Given the description of an element on the screen output the (x, y) to click on. 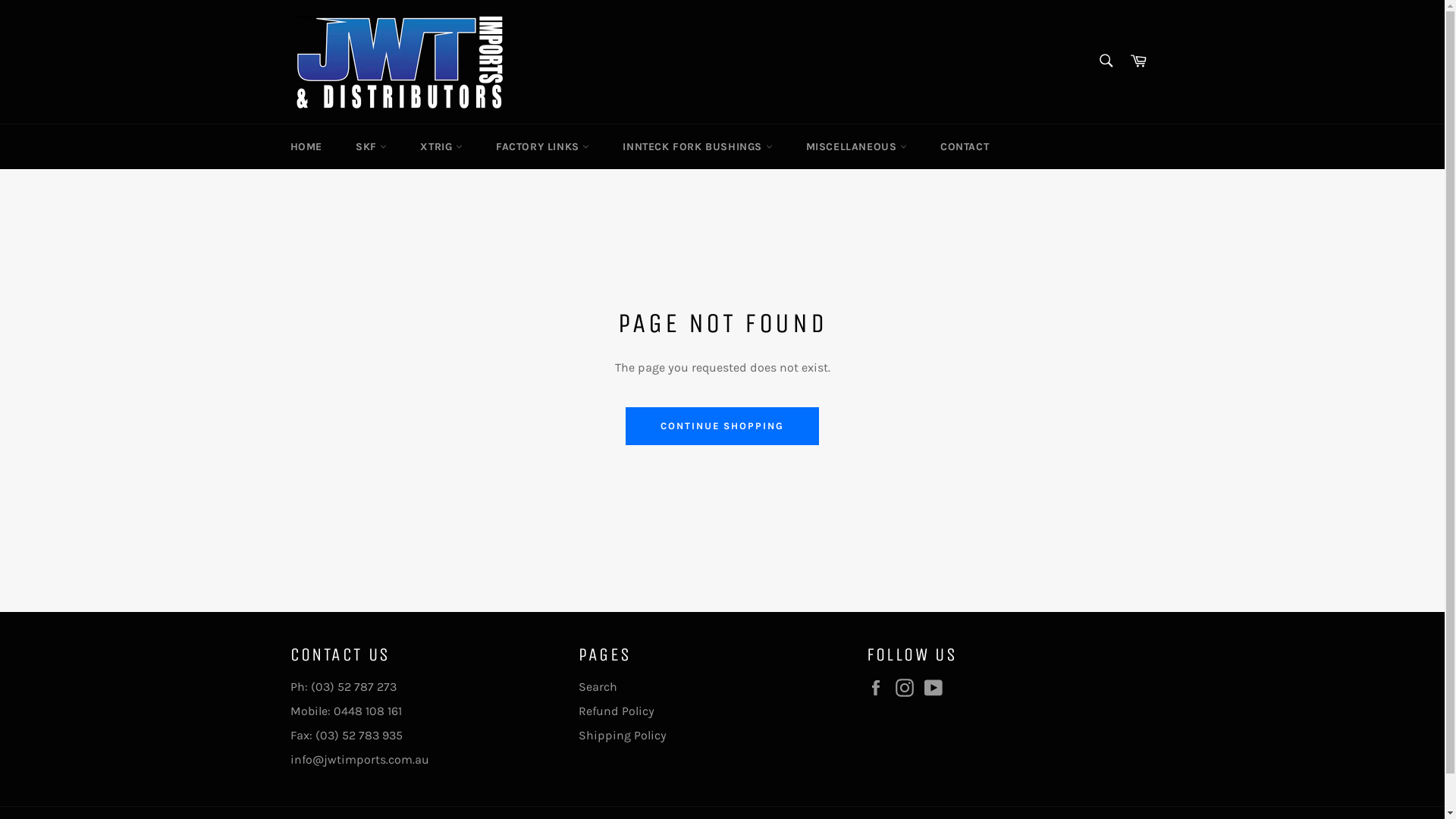
Search Element type: text (596, 686)
0448 108 161 Element type: text (367, 710)
XTRIG Element type: text (440, 146)
Facebook Element type: text (878, 687)
Instagram Element type: text (907, 687)
info@jwtimports.com.au Element type: text (358, 759)
HOME Element type: text (305, 146)
FACTORY LINKS Element type: text (542, 146)
Cart Element type: text (1138, 61)
MISCELLANEOUS Element type: text (856, 146)
Refund Policy Element type: text (615, 710)
YouTube Element type: text (936, 687)
(03) 52 787 273 Element type: text (353, 686)
Search Element type: text (1105, 60)
SKF Element type: text (370, 146)
INNTECK FORK BUSHINGS Element type: text (697, 146)
Shipping Policy Element type: text (621, 735)
CONTACT Element type: text (964, 146)
CONTINUE SHOPPING Element type: text (722, 426)
